Given the description of an element on the screen output the (x, y) to click on. 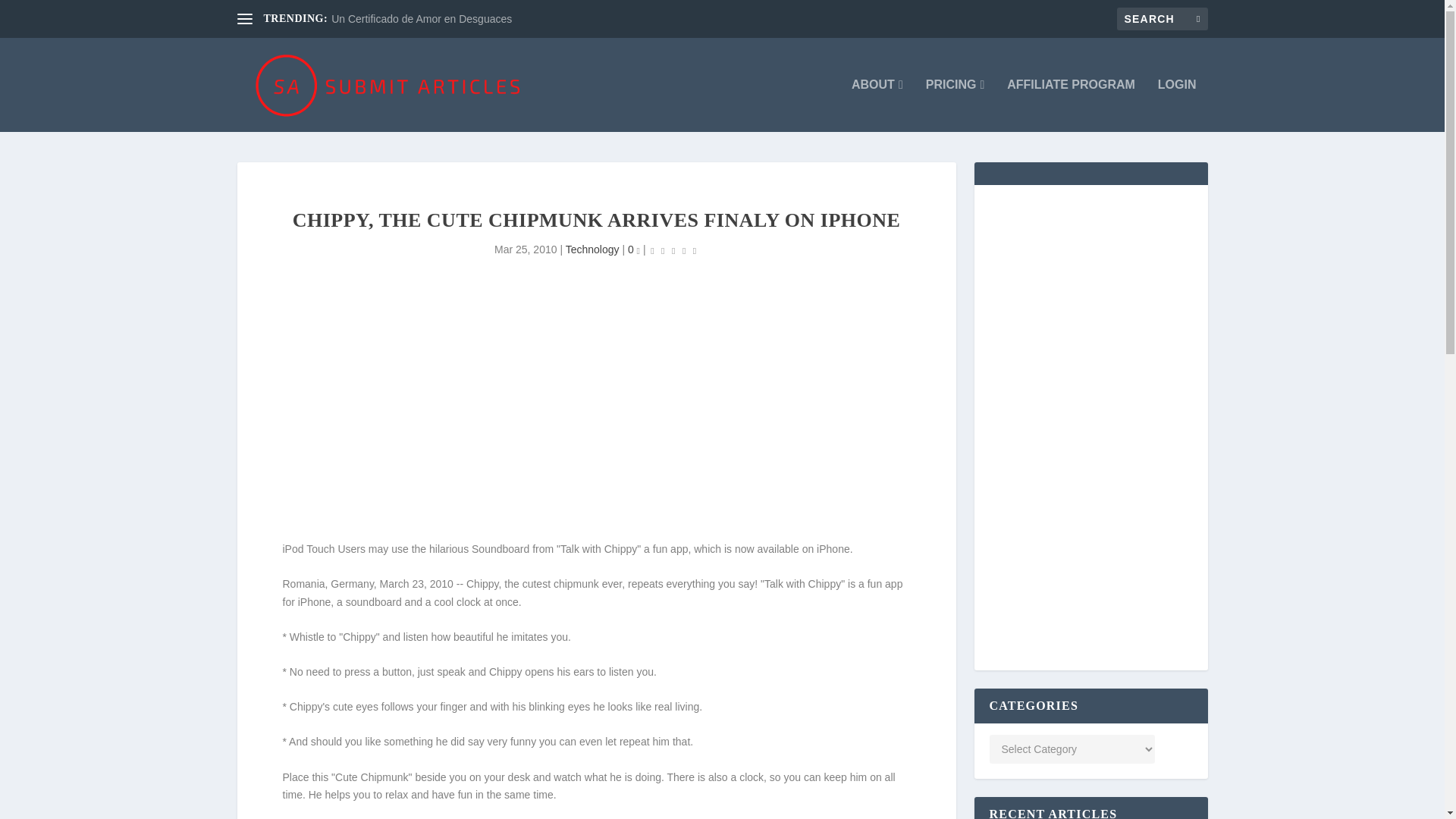
ABOUT (876, 104)
Search for: (1161, 18)
Un Certificado de Amor en Desguaces (421, 19)
Rating: 0.00 (672, 250)
